Given the description of an element on the screen output the (x, y) to click on. 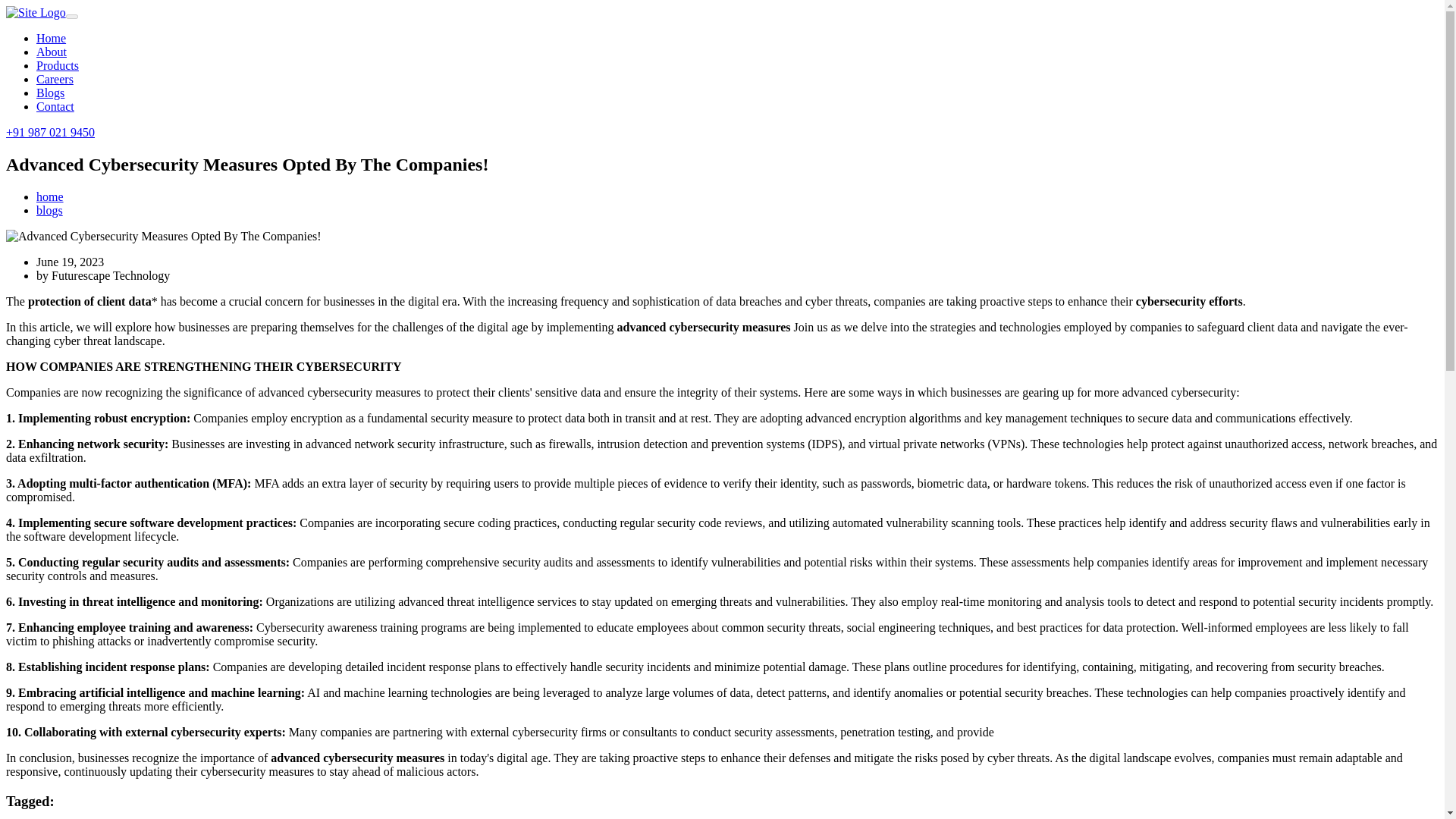
Careers (55, 78)
About (51, 51)
Products (57, 65)
Contact (55, 106)
Home (50, 38)
Futurescape Technology (110, 275)
Blogs (50, 92)
home (50, 196)
blogs (49, 210)
